Given the description of an element on the screen output the (x, y) to click on. 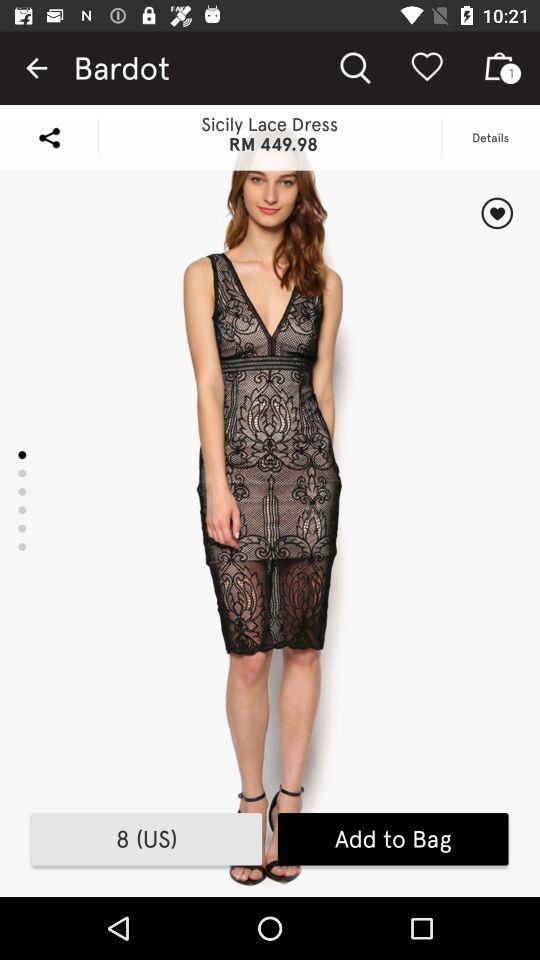
jump to the add to bag item (392, 839)
